Given the description of an element on the screen output the (x, y) to click on. 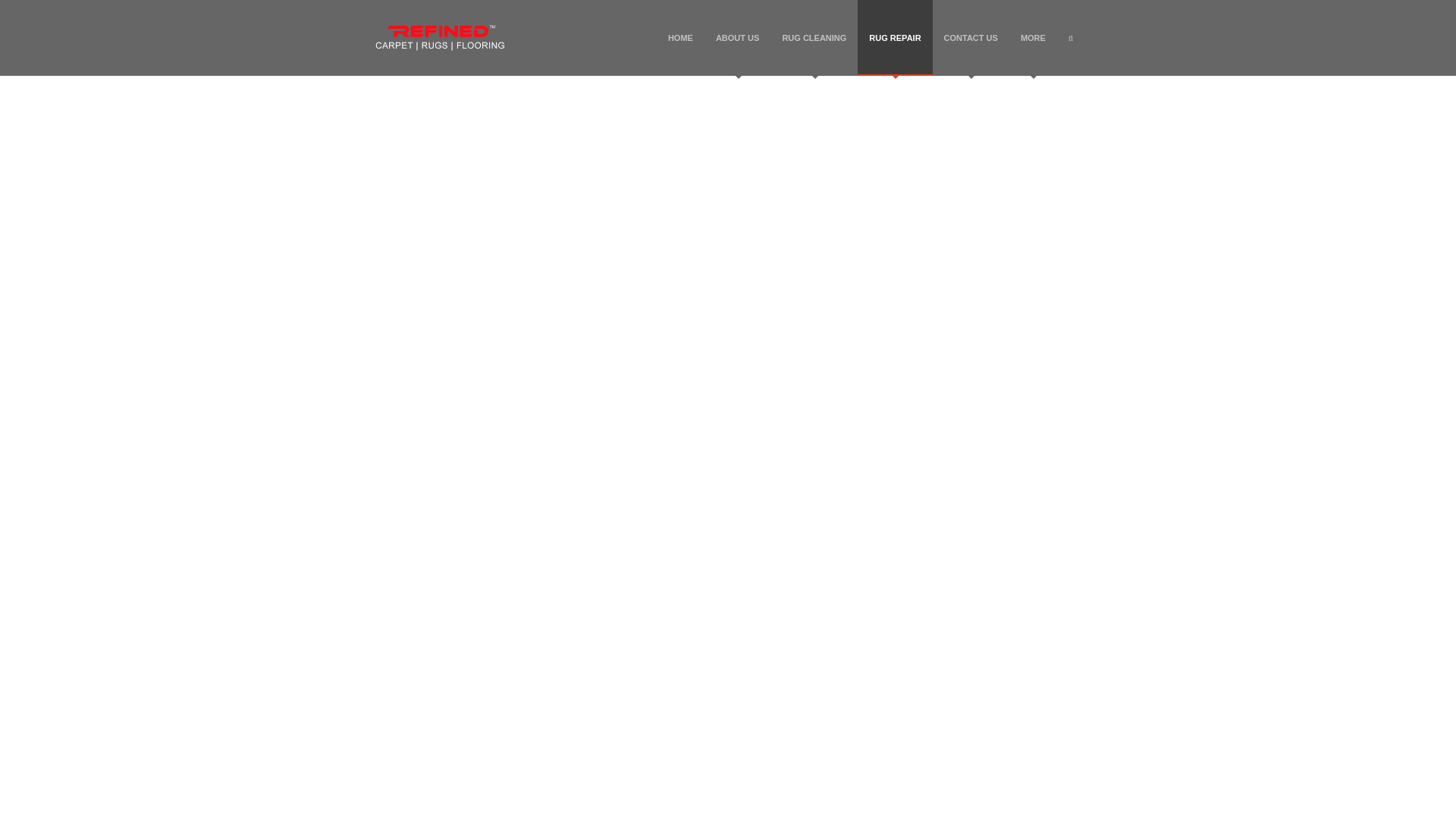
RUG CLEANING (813, 38)
CONTACT US (971, 38)
RUG REPAIR (894, 38)
